Given the description of an element on the screen output the (x, y) to click on. 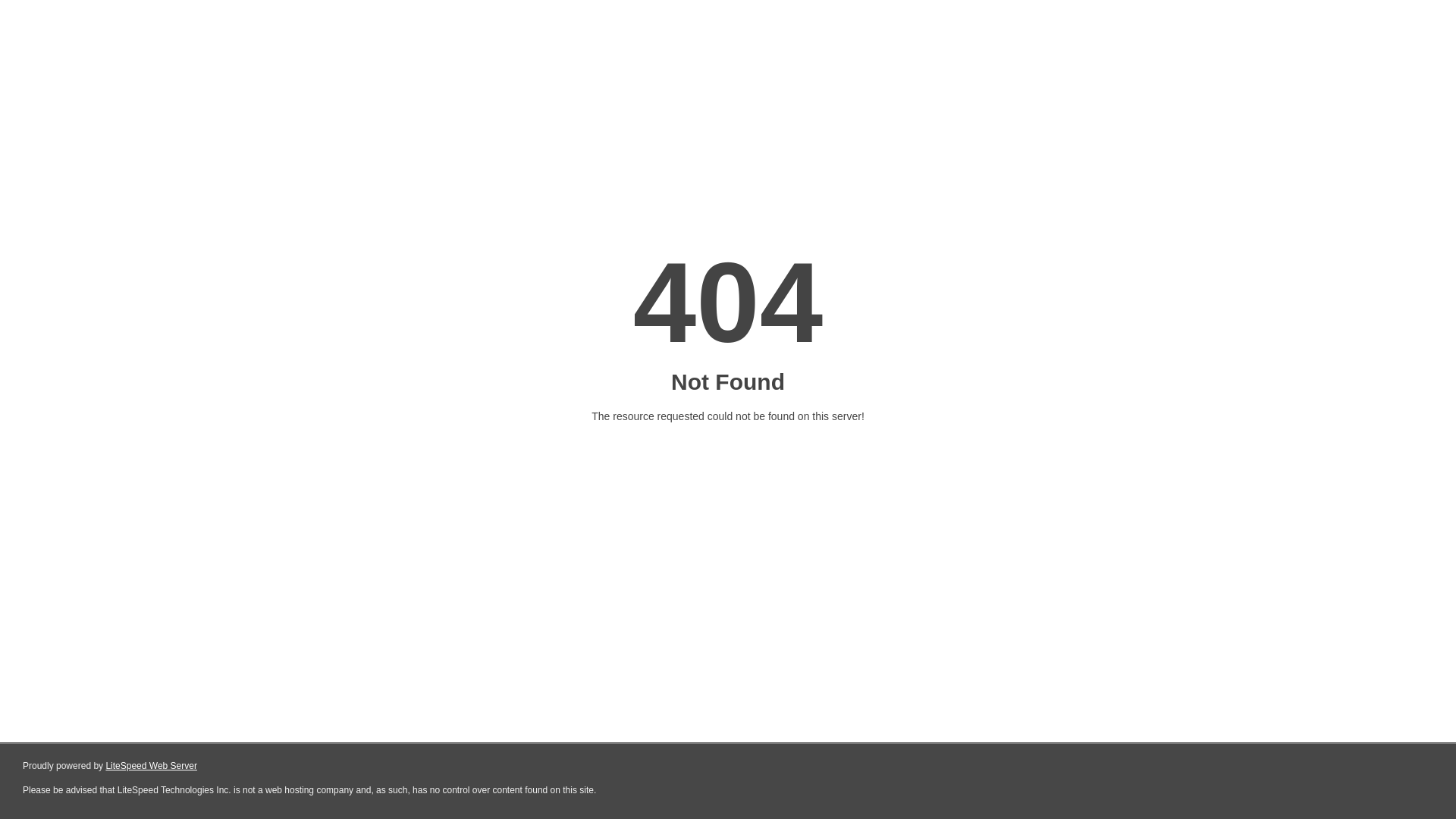
LiteSpeed Web Server Element type: text (151, 765)
